Given the description of an element on the screen output the (x, y) to click on. 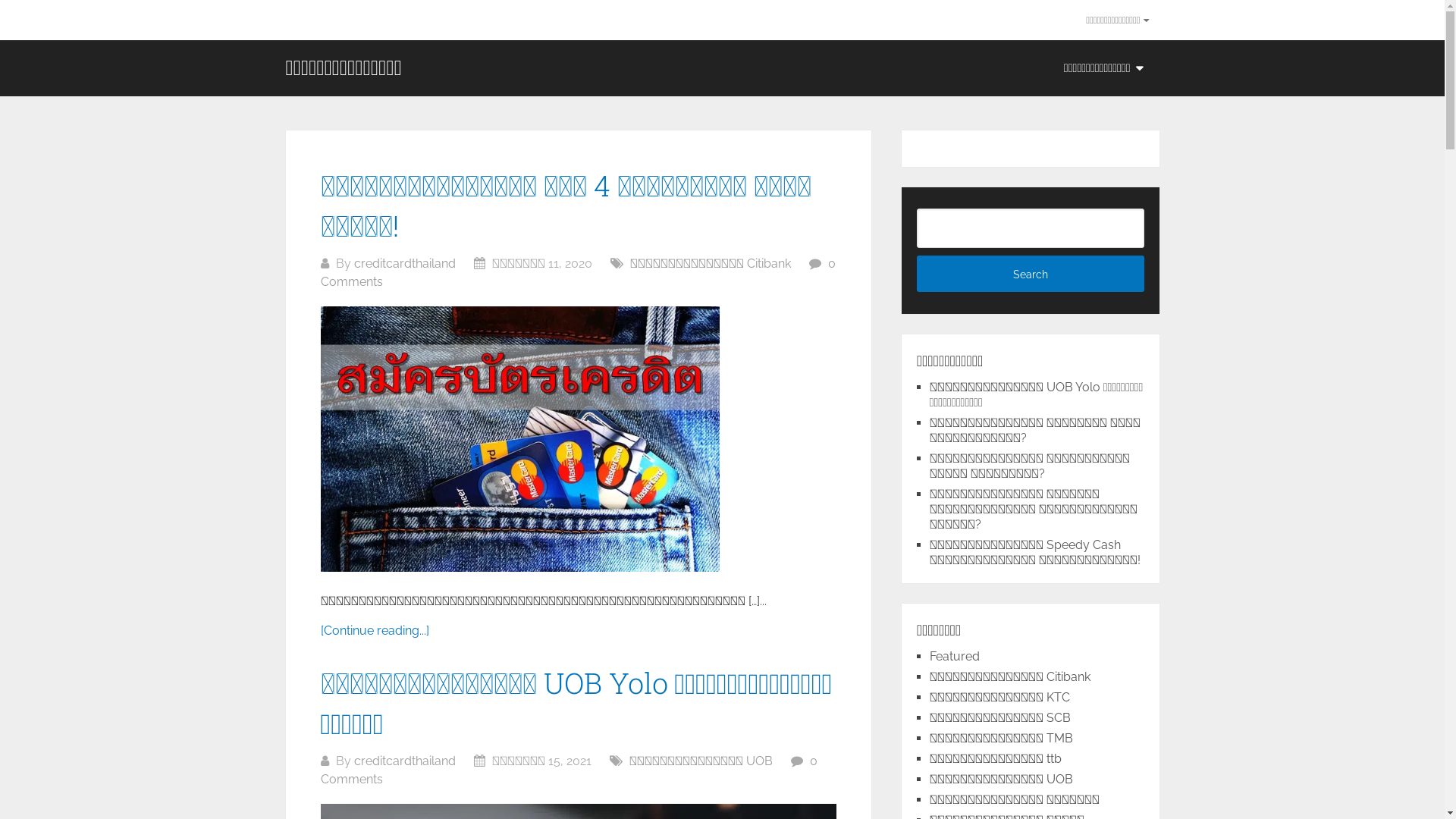
0 Comments Element type: text (568, 769)
[Continue reading...] Element type: text (374, 630)
creditcardthailand Element type: text (404, 760)
0 Comments Element type: text (577, 272)
creditcardthailand Element type: text (404, 263)
Featured Element type: text (954, 656)
Search Element type: text (1030, 273)
